Given the description of an element on the screen output the (x, y) to click on. 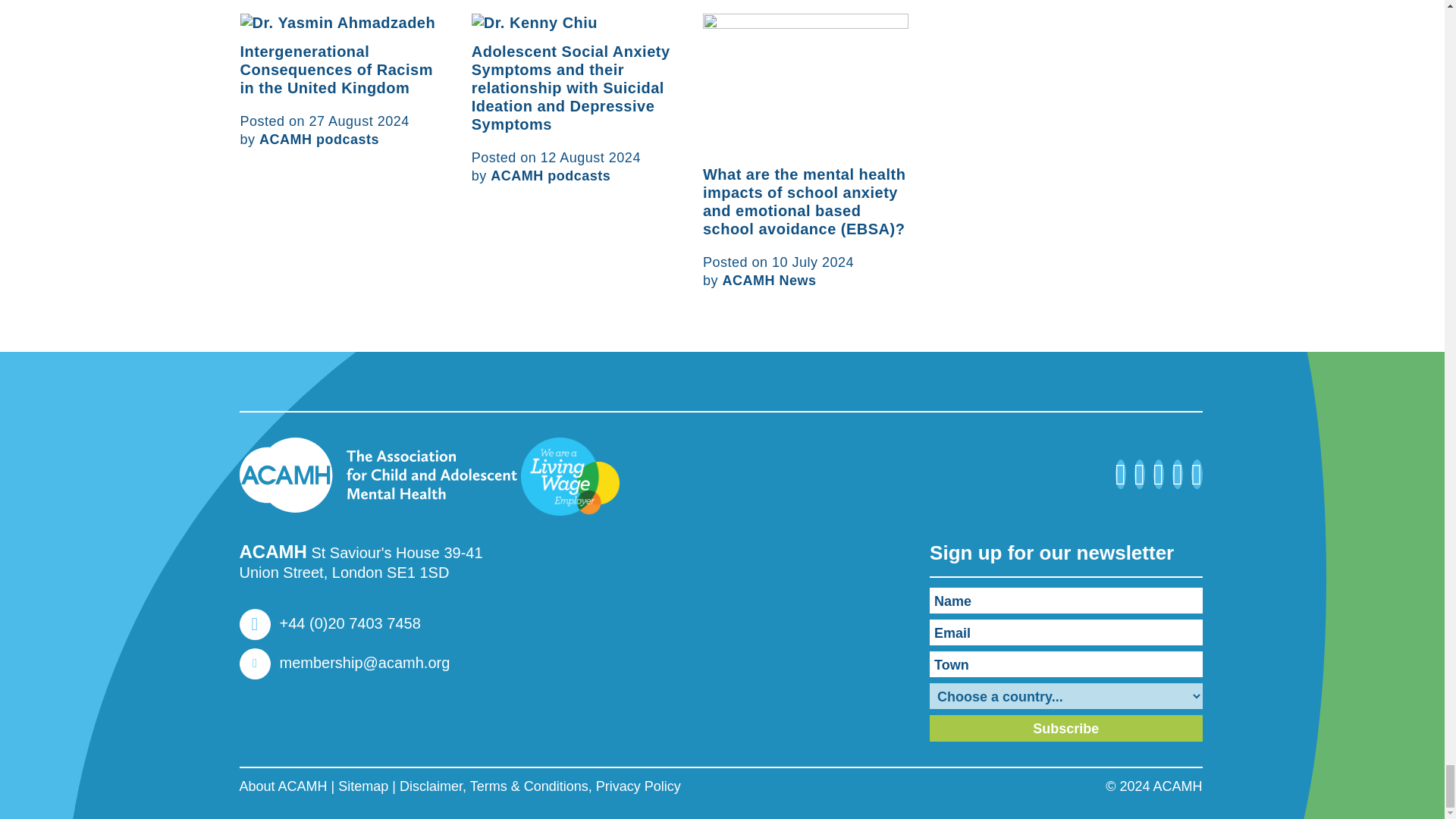
Posts by ACAMH podcasts (550, 175)
Posts by ACAMH News (768, 280)
Subscribe (1066, 728)
Posts by ACAMH podcasts (318, 139)
